Given the description of an element on the screen output the (x, y) to click on. 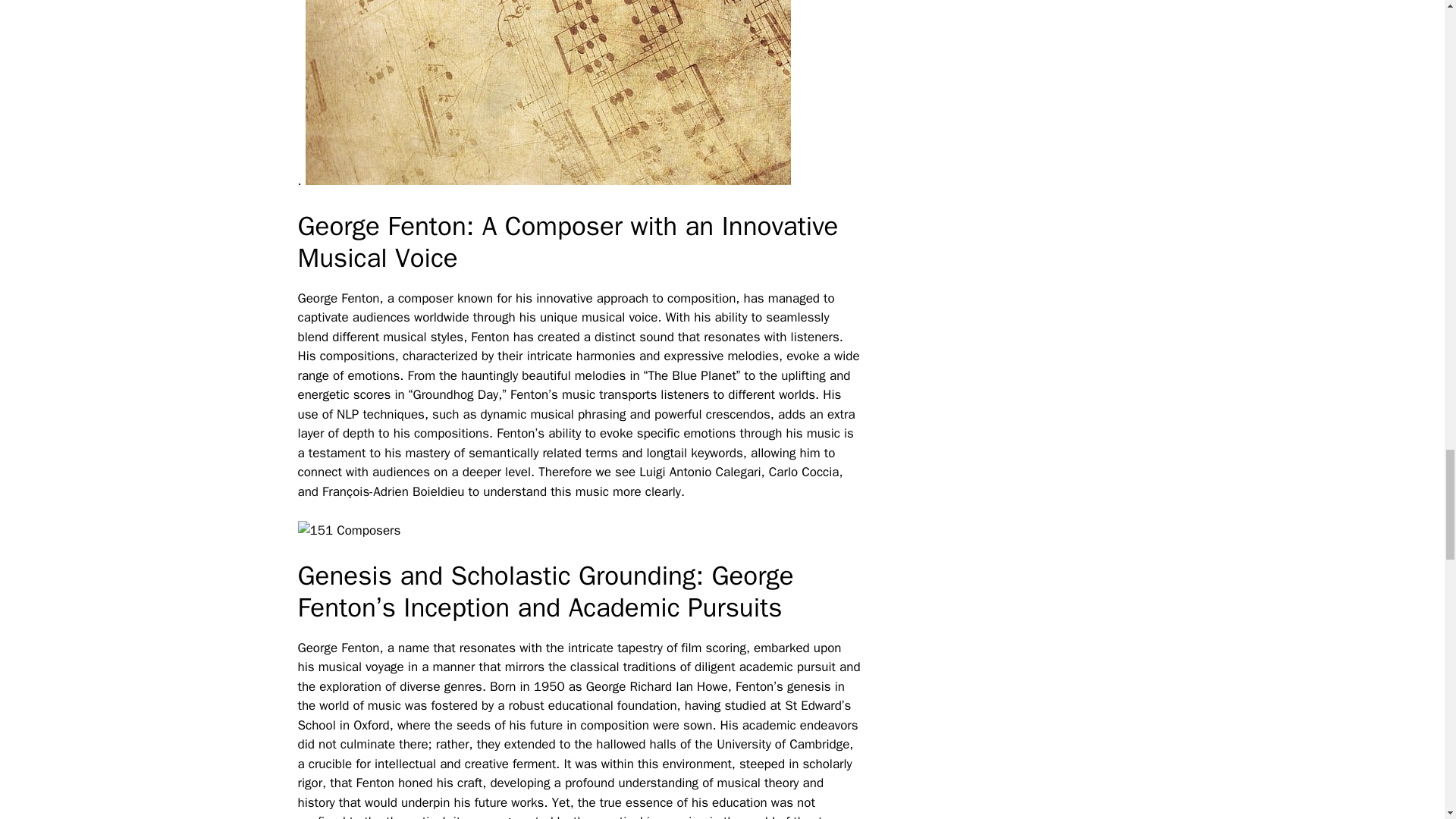
Luigi Antonio Calegari (699, 471)
Carlo Coccia (804, 471)
